Given the description of an element on the screen output the (x, y) to click on. 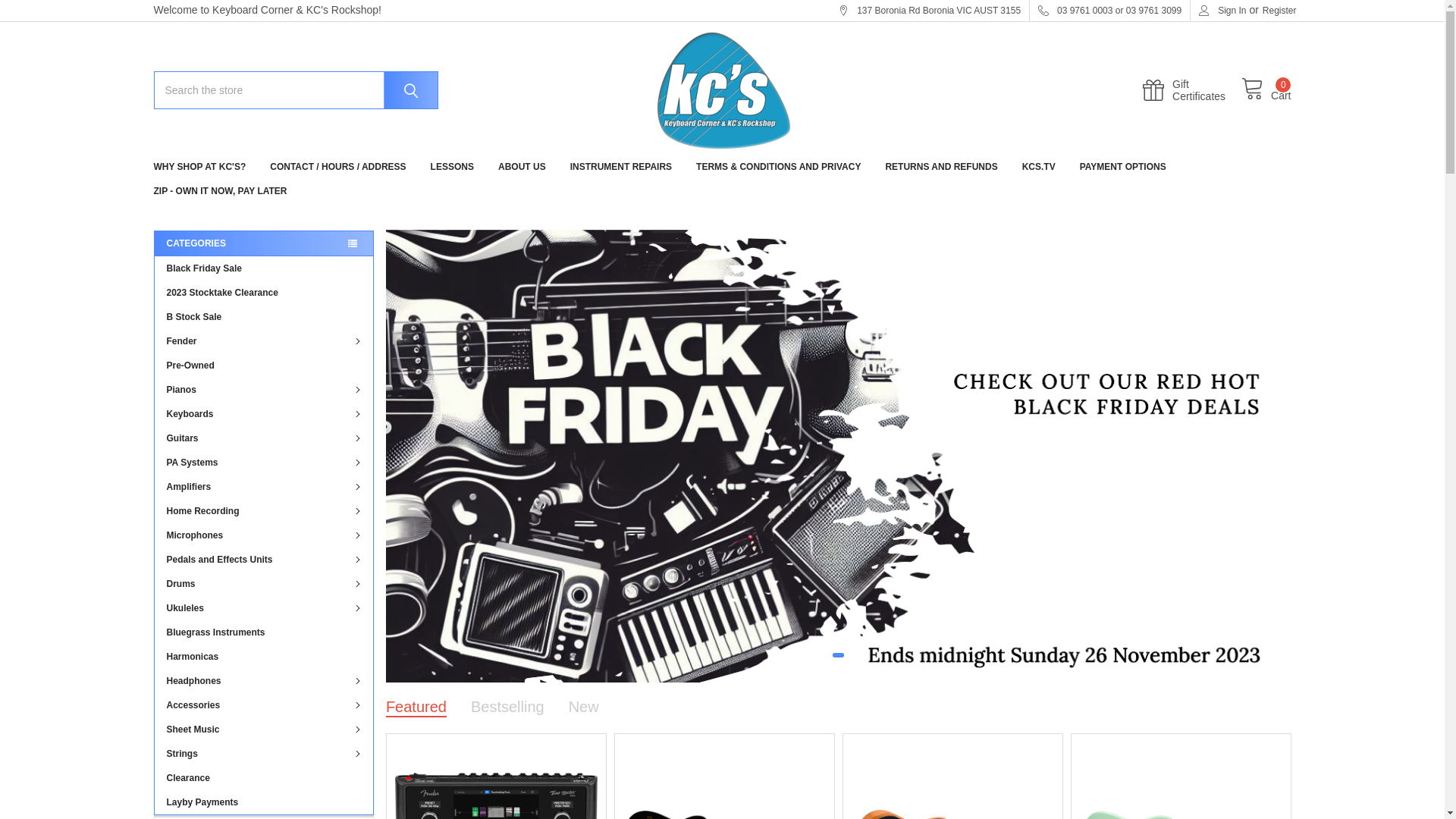
Drums Element type: text (263, 583)
CONTACT / HOURS / ADDRESS Element type: text (337, 166)
B Stock Sale Element type: text (263, 316)
PA Systems Element type: text (263, 462)
Microphones Element type: text (263, 535)
RETURNS AND REFUNDS Element type: text (940, 166)
Search Element type: text (404, 90)
Featured Element type: text (415, 706)
Headphones Element type: text (263, 680)
Gift
Certificates Element type: text (1191, 90)
Amplifiers Element type: text (263, 486)
Harmonicas Element type: text (263, 656)
Layby Payments Element type: text (263, 802)
INSTRUMENT REPAIRS Element type: text (621, 166)
1 Element type: text (838, 654)
03 9761 0003 or 03 9761 3099 Element type: text (1109, 10)
Pedals and Effects Units Element type: text (263, 559)
Pianos Element type: text (263, 389)
Sign In Element type: text (1222, 10)
KCS.TV Element type: text (1038, 166)
2023 Stocktake Clearance Element type: text (263, 292)
Register Element type: text (1279, 10)
Bestselling Element type: text (507, 706)
Black Friday Sale Element type: text (263, 268)
Clearance Element type: text (263, 777)
Guitars Element type: text (263, 438)
LESSONS Element type: text (452, 166)
Sheet Music Element type: text (263, 729)
PAYMENT OPTIONS Element type: text (1122, 166)
Bluegrass Instruments Element type: text (263, 632)
WHY SHOP AT KC'S? Element type: text (199, 166)
Home Recording Element type: text (263, 510)
Strings Element type: text (263, 753)
ABOUT US Element type: text (522, 166)
CATEGORIES Element type: text (263, 243)
New Element type: text (583, 706)
TERMS & CONDITIONS AND PRIVACY Element type: text (778, 166)
Pre-Owned Element type: text (263, 365)
Keyboards Element type: text (263, 413)
Fender Element type: text (263, 341)
Keyboard Corner & KC's Rockshop Element type: hover (722, 90)
Cart
0 Element type: text (1265, 89)
Ukuleles Element type: text (263, 608)
ZIP - OWN IT NOW, PAY LATER Element type: text (219, 190)
Accessories Element type: text (263, 705)
